Given the description of an element on the screen output the (x, y) to click on. 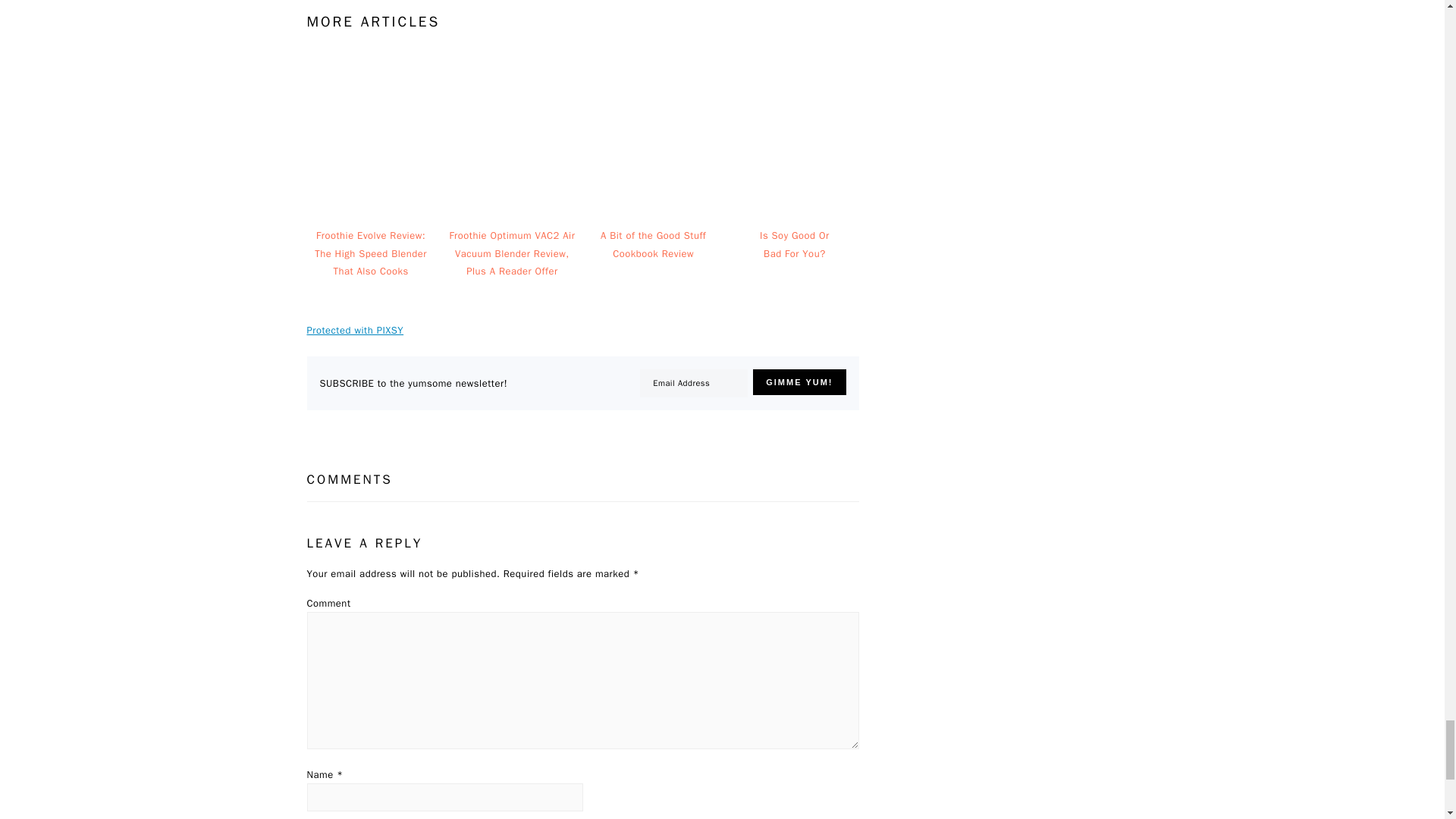
Gimme yum! (798, 381)
